Given the description of an element on the screen output the (x, y) to click on. 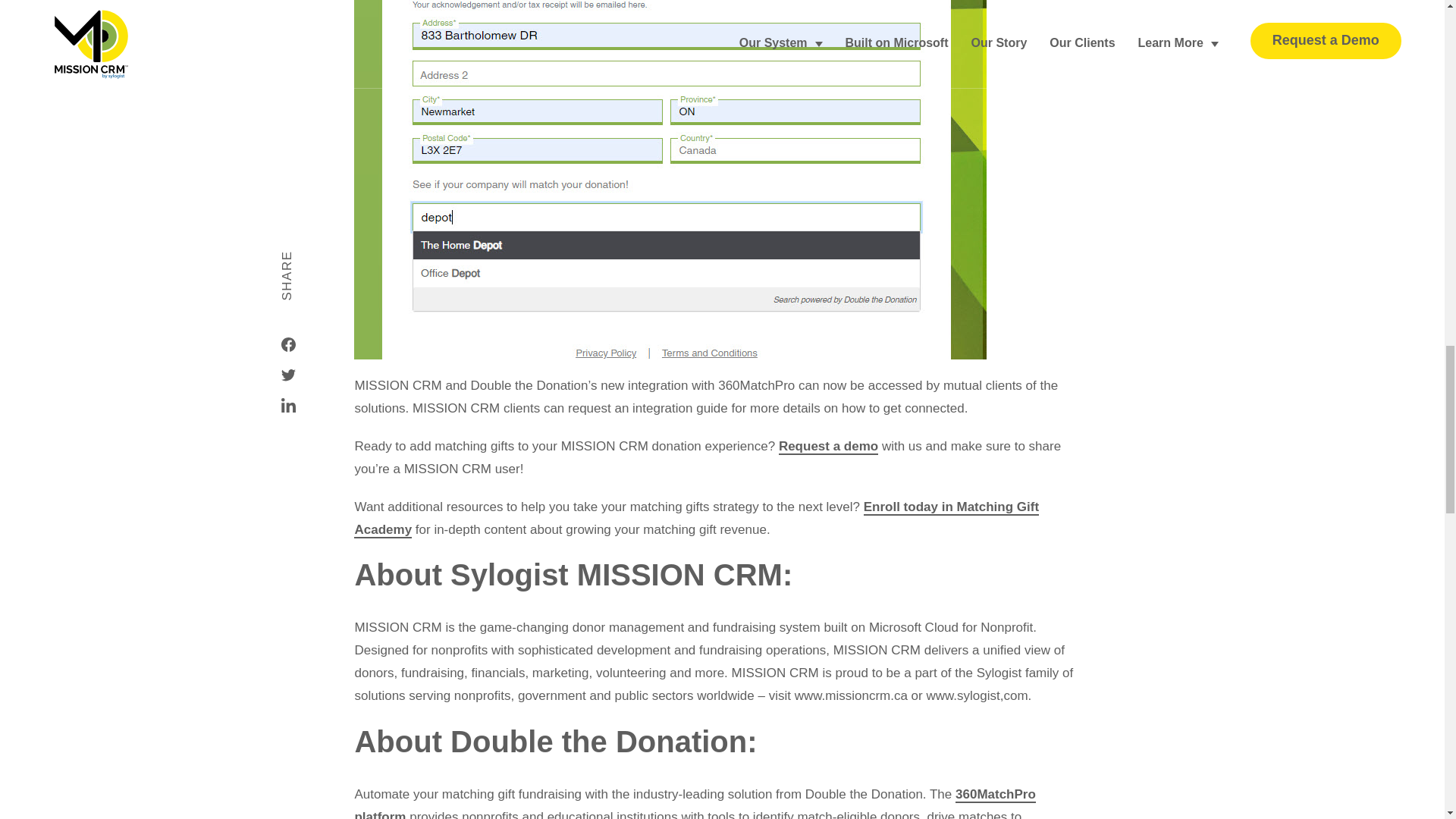
Enroll today in Matching Gift Academy (696, 518)
Request a demo (827, 446)
